Given the description of an element on the screen output the (x, y) to click on. 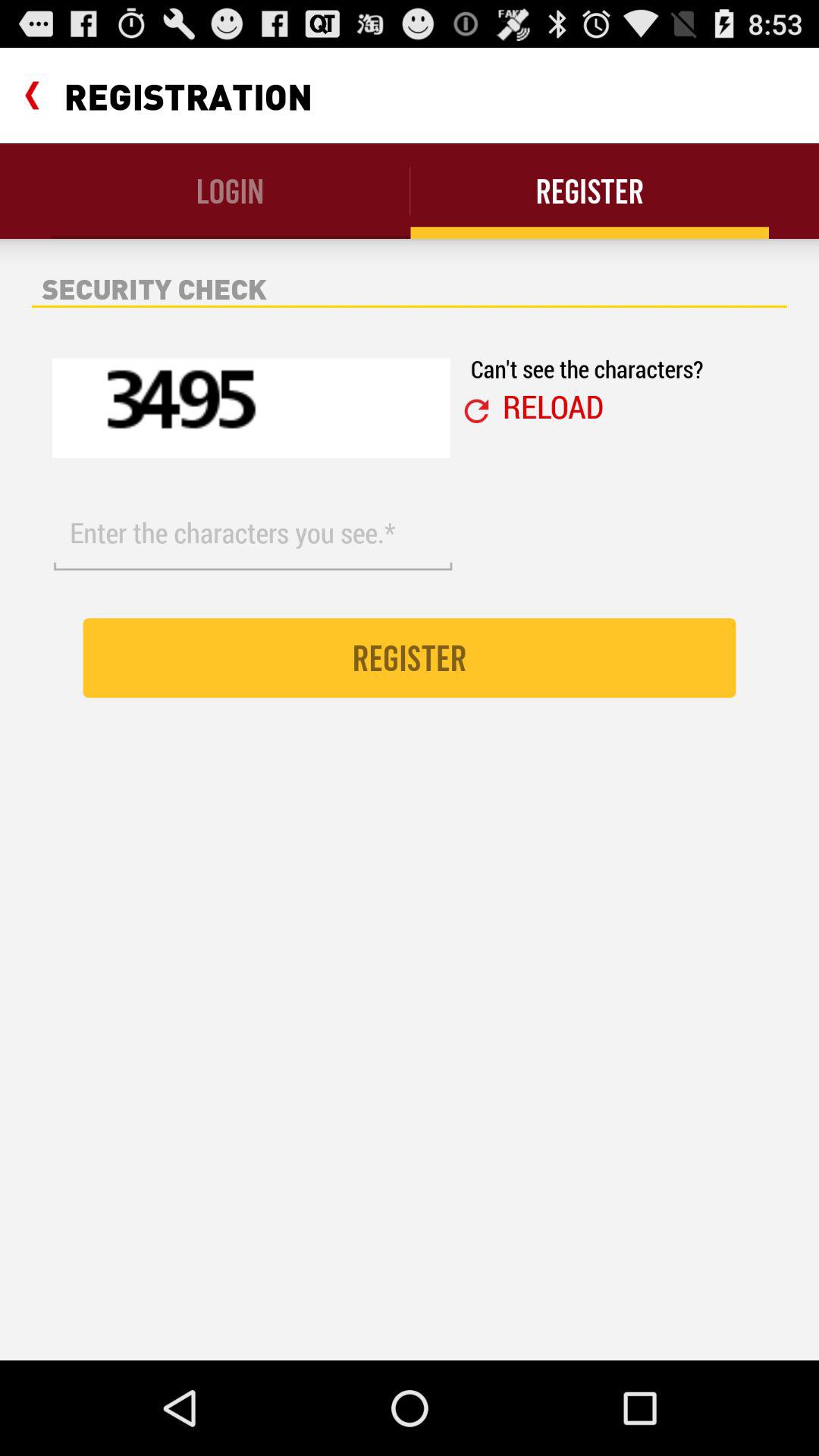
launch the item next to reload (476, 411)
